Given the description of an element on the screen output the (x, y) to click on. 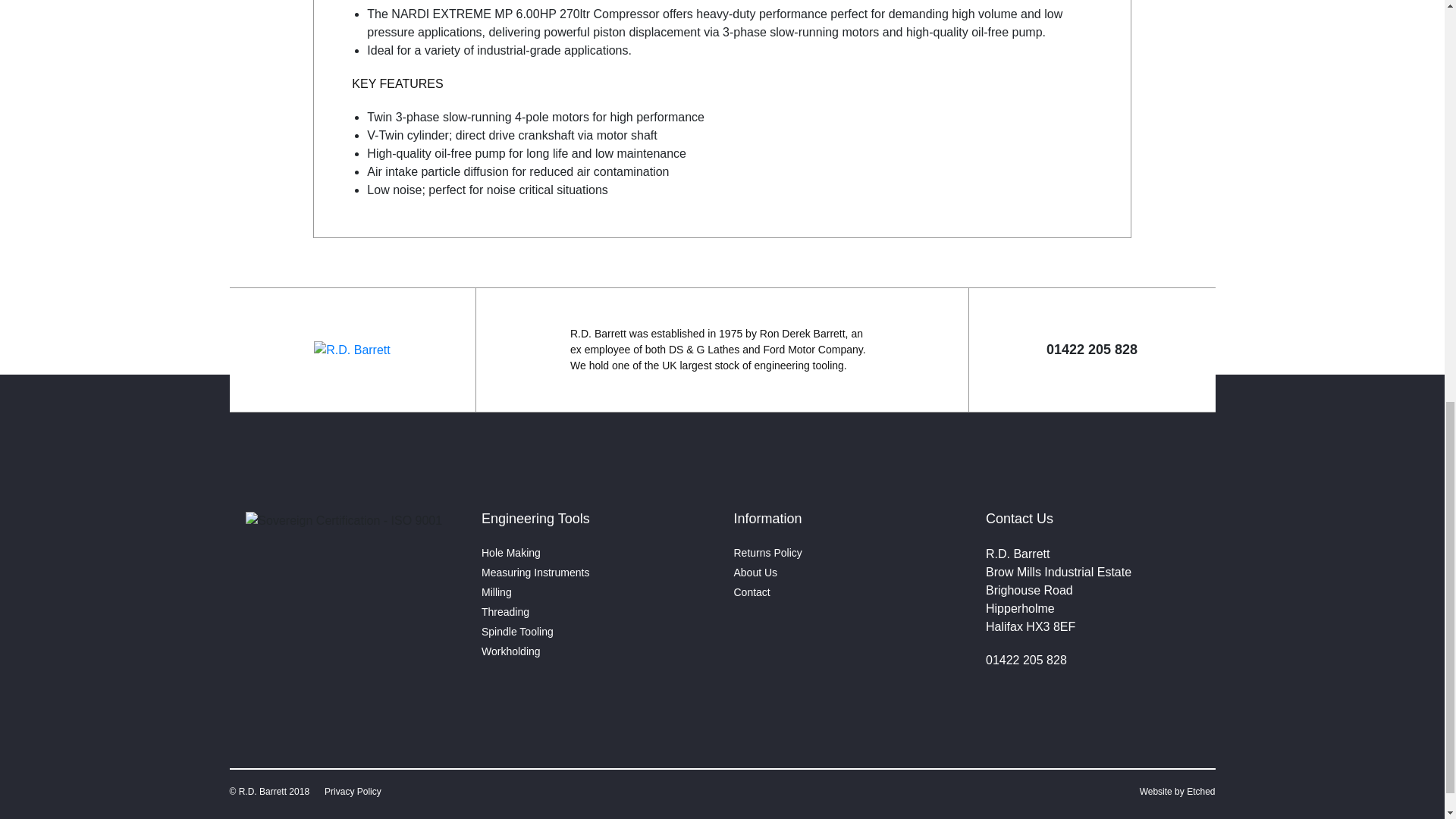
Returns Policy (767, 552)
Measuring Instruments (535, 572)
Workholding (510, 651)
Website by Etched (1177, 791)
Hole Making (510, 552)
Threading (505, 612)
About Us (755, 572)
Privacy Policy (352, 791)
01422 205 828 (1026, 659)
Spindle Tooling (517, 631)
Milling (496, 592)
Contact (751, 592)
